Given the description of an element on the screen output the (x, y) to click on. 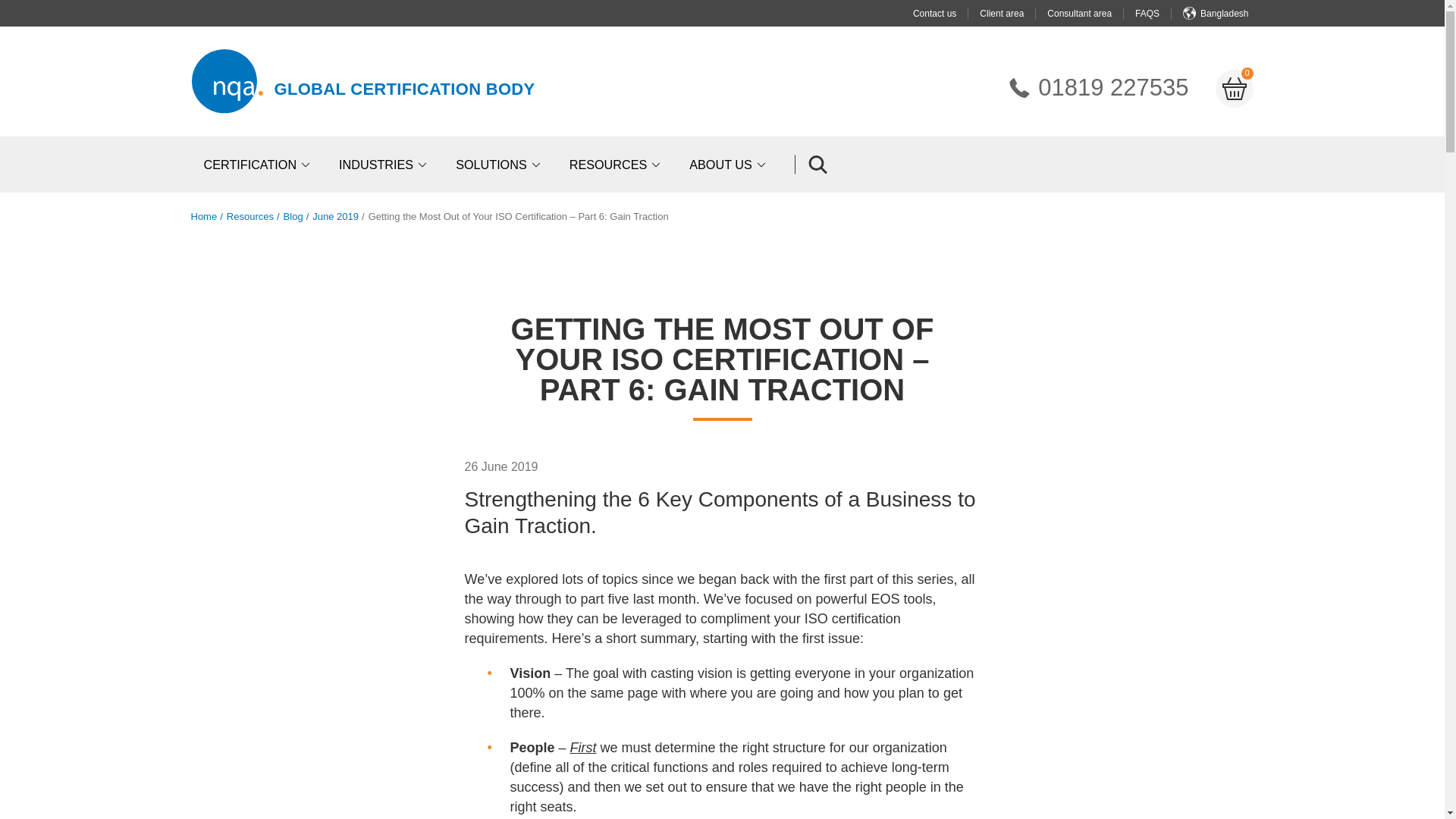
INDUSTRIES (1097, 87)
Phone Created with Sketch. (385, 164)
FAQS (1019, 87)
Client area (1158, 12)
Consultant area (1012, 12)
Contact us (1090, 12)
SOLUTIONS (945, 12)
CERTIFICATION (500, 164)
NQA logo (258, 164)
GLOBAL CERTIFICATION BODY (226, 81)
Bangladesh (405, 88)
